Given the description of an element on the screen output the (x, y) to click on. 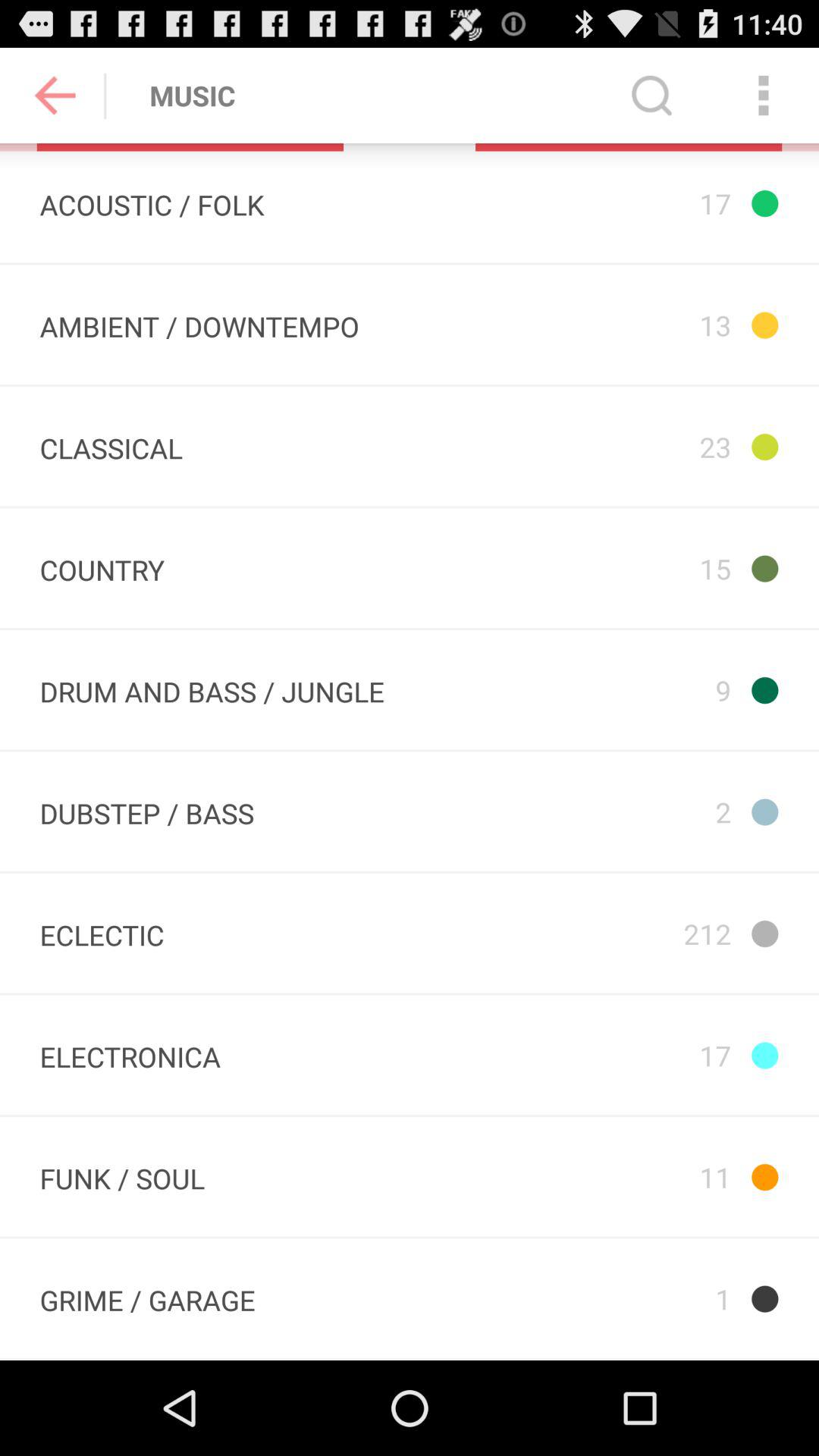
swipe to 15 icon (613, 567)
